Given the description of an element on the screen output the (x, y) to click on. 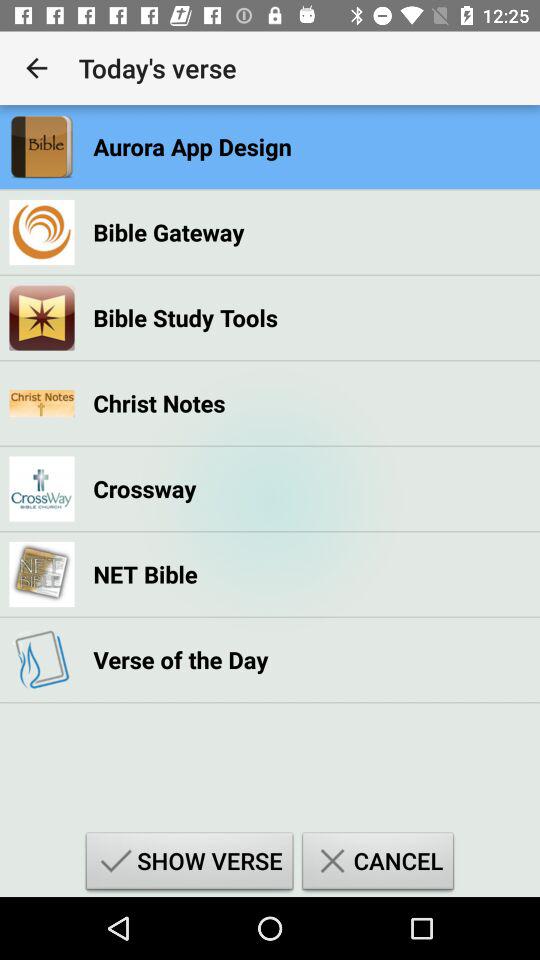
press the net bible item (145, 573)
